Given the description of an element on the screen output the (x, y) to click on. 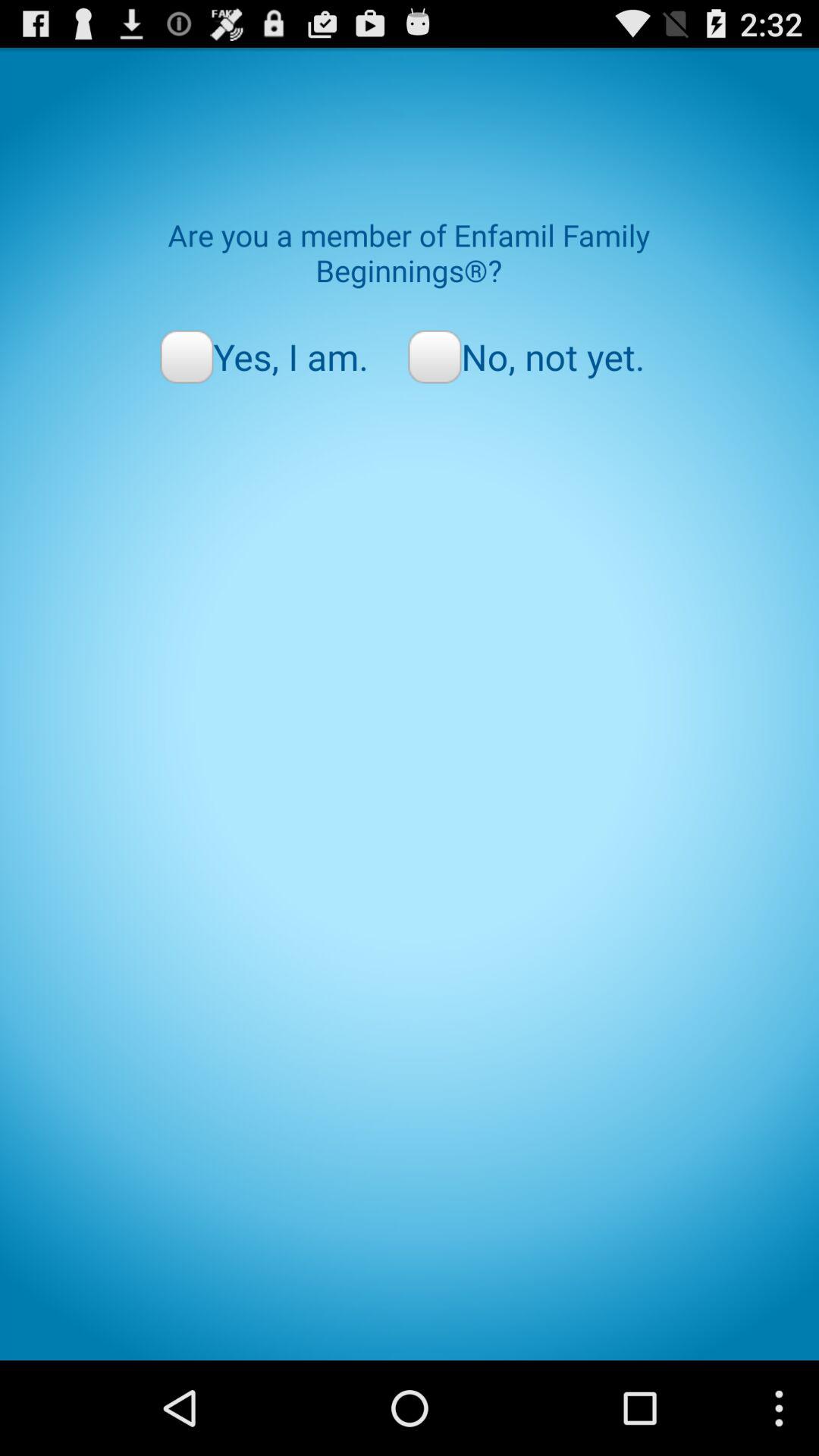
turn off the item to the left of no, not yet. icon (264, 356)
